Given the description of an element on the screen output the (x, y) to click on. 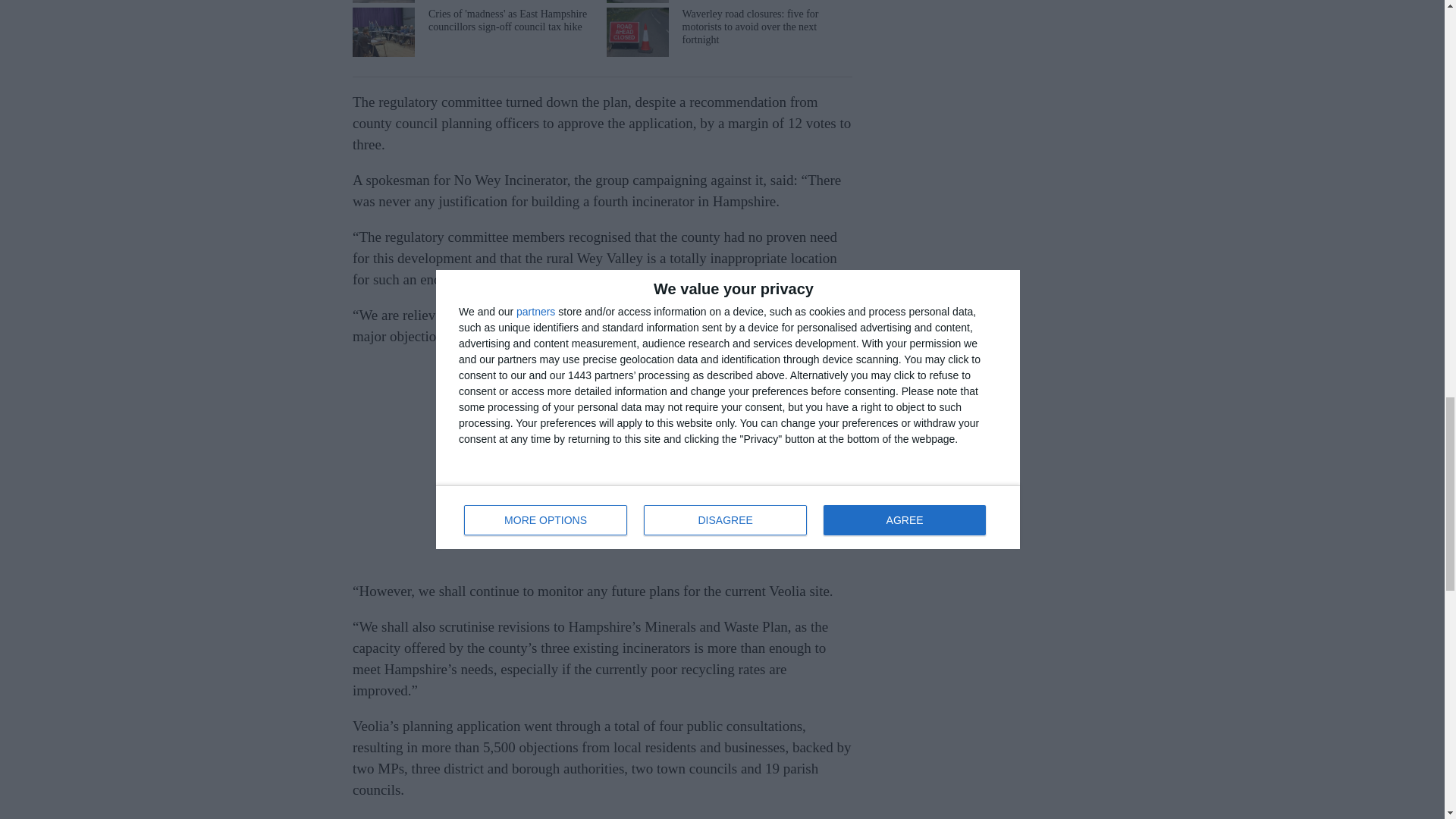
'Do not travel' warning as major incident disrupts trains (473, 1)
